Given the description of an element on the screen output the (x, y) to click on. 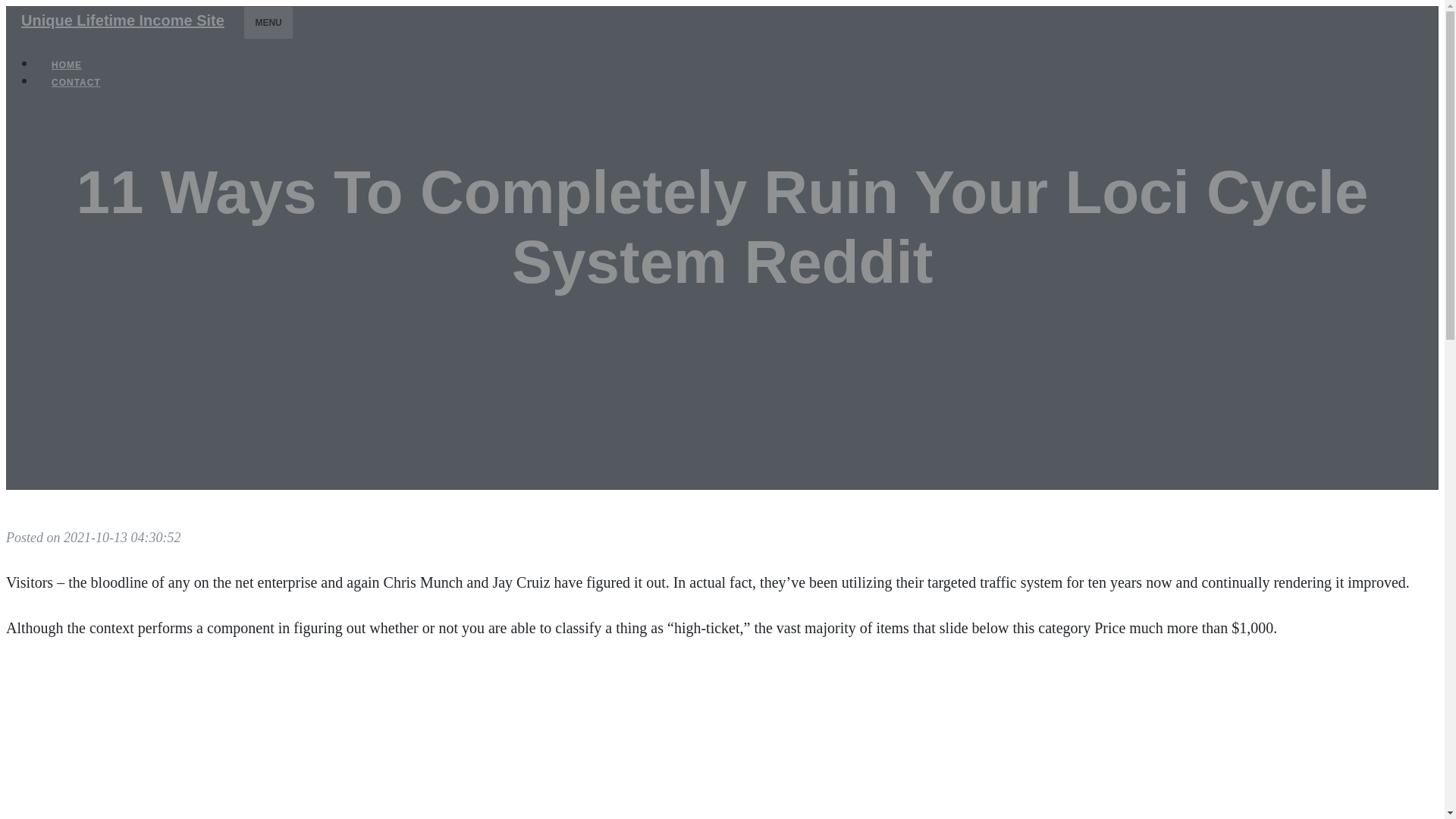
CONTACT (76, 82)
MENU (267, 22)
HOME (66, 64)
Unique Lifetime Income Site (122, 20)
